Given the description of an element on the screen output the (x, y) to click on. 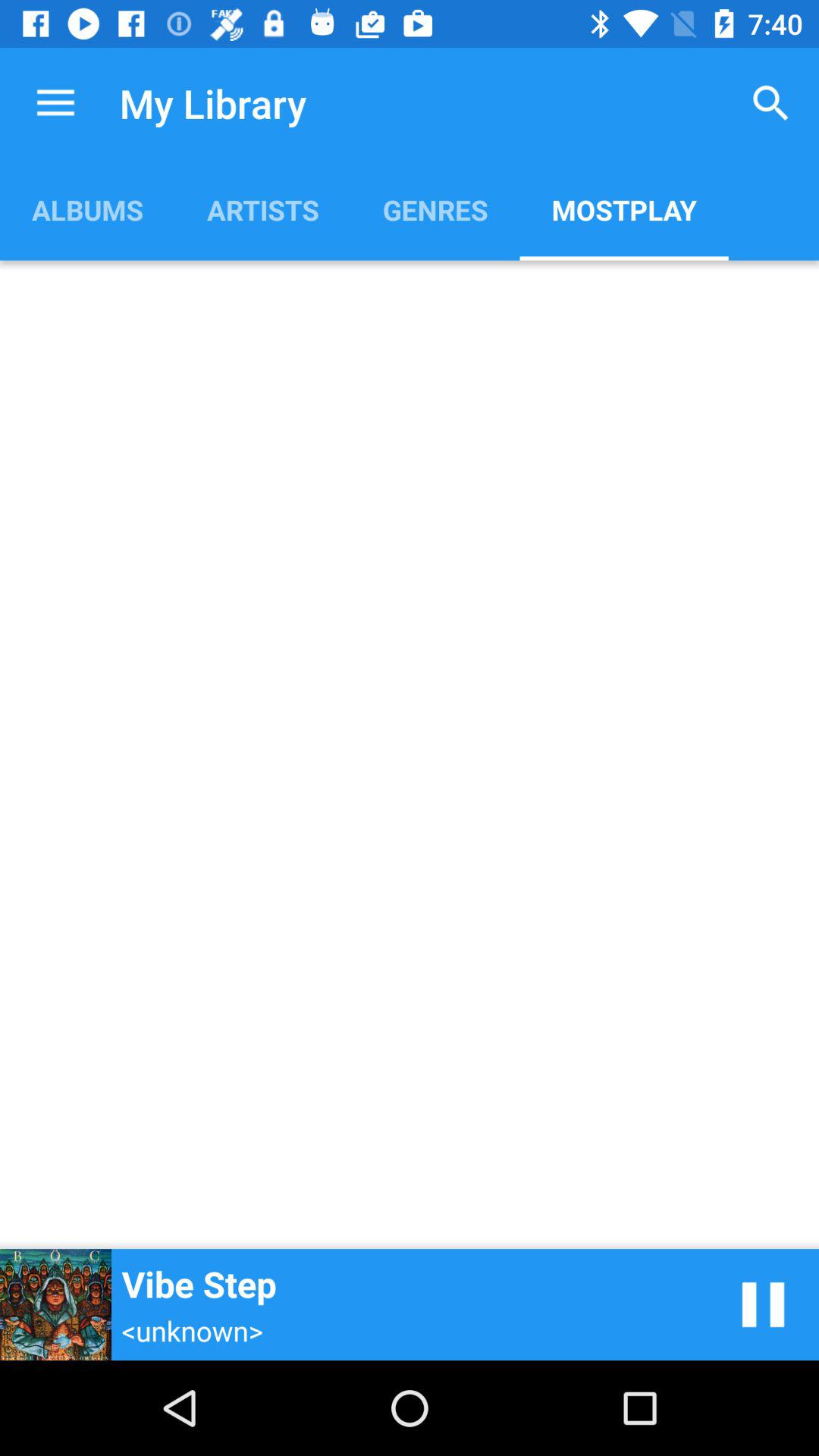
launch item above the mostplay icon (771, 103)
